Given the description of an element on the screen output the (x, y) to click on. 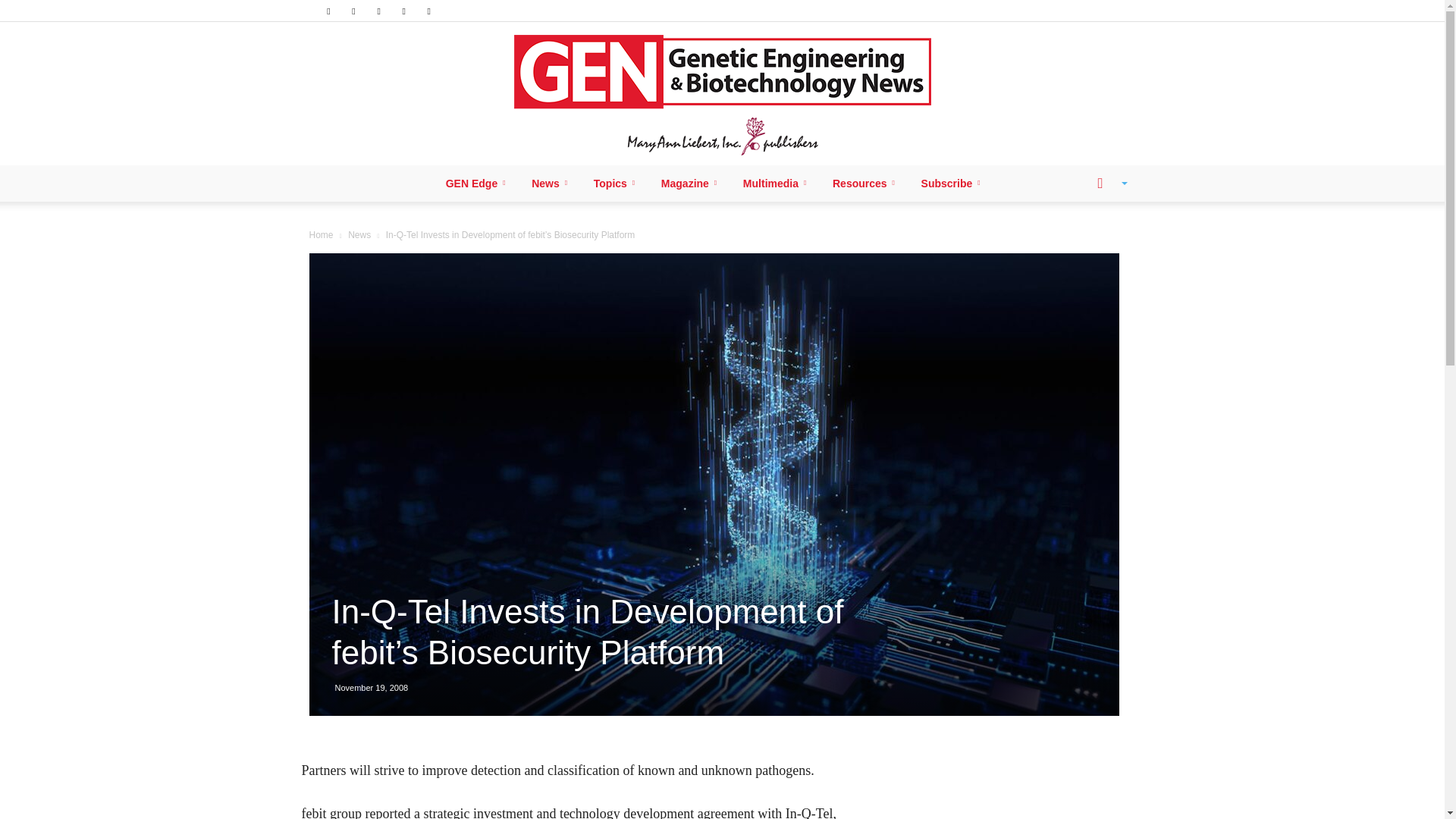
View all posts in News (359, 235)
Twitter (403, 10)
Facebook (328, 10)
Youtube (429, 10)
RSS (379, 10)
Linkedin (353, 10)
